Given the description of an element on the screen output the (x, y) to click on. 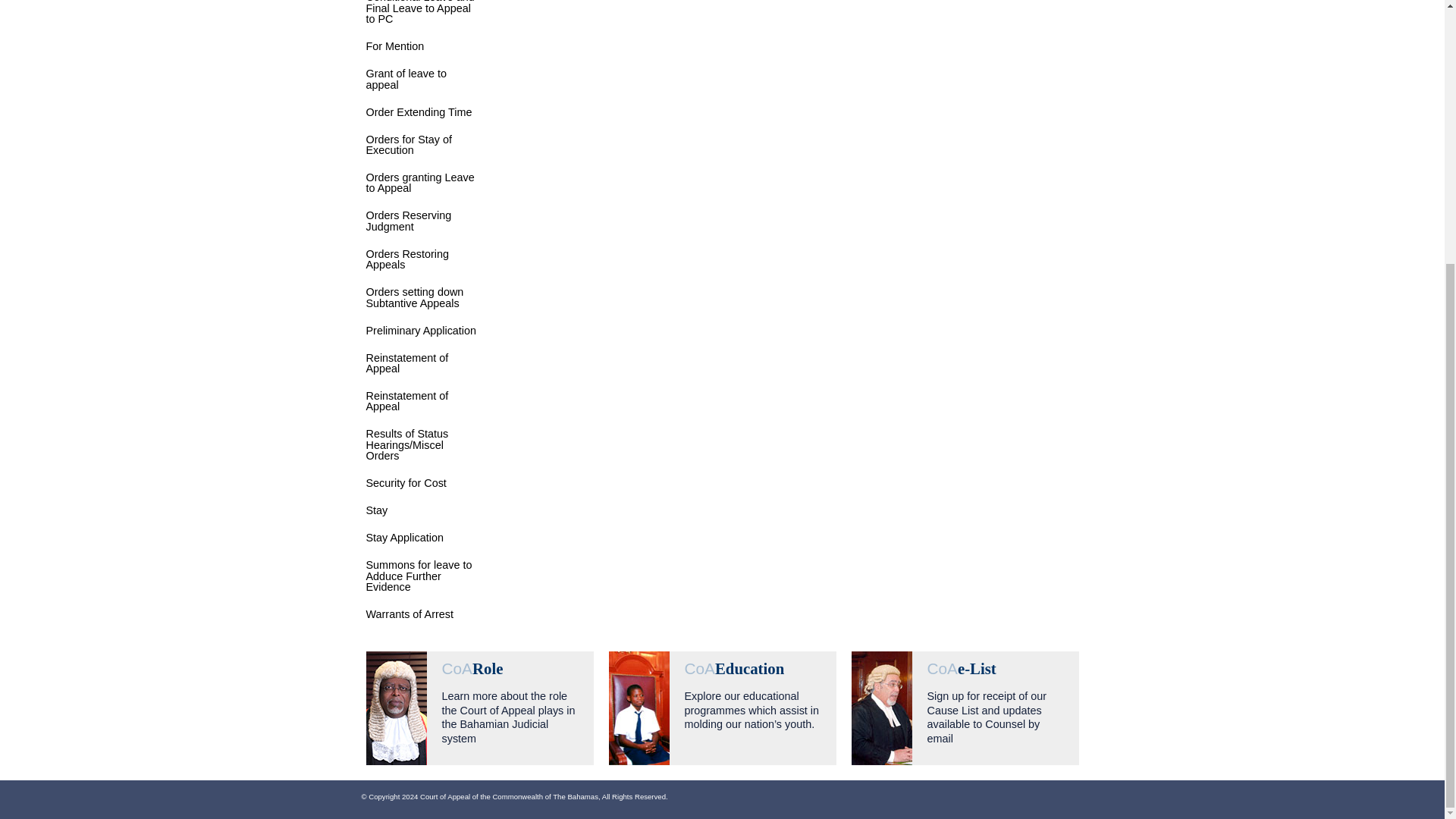
Orders Restoring Appeals (406, 259)
Preliminary Application (420, 330)
Orders Reserving Judgment (408, 220)
Reinstatement of Appeal (406, 363)
Order Extending Time (418, 111)
Orders setting down Subtantive Appeals (414, 296)
Warrants of Arrest (408, 613)
Grant of leave to appeal (405, 78)
Orders granting Leave to Appeal (419, 182)
Stay Application (403, 537)
Orders for Stay of Execution (408, 144)
Conditional Leave and Final Leave to Appeal to PC (419, 12)
Reinstatement of Appeal (406, 400)
Security for Cost (405, 482)
Summons for leave to Adduce Further Evidence (418, 575)
